Given the description of an element on the screen output the (x, y) to click on. 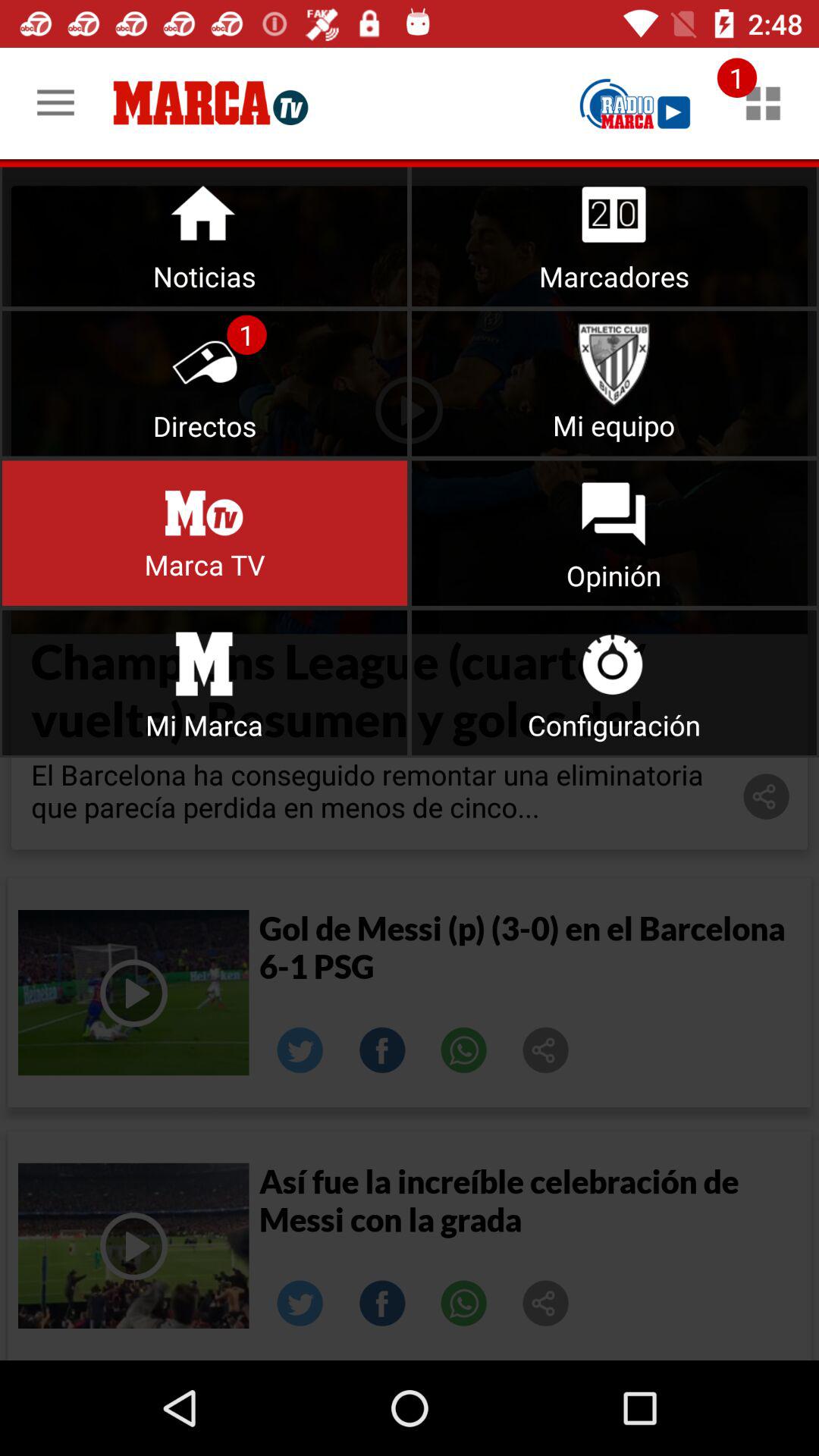
go to share (300, 1303)
